Given the description of an element on the screen output the (x, y) to click on. 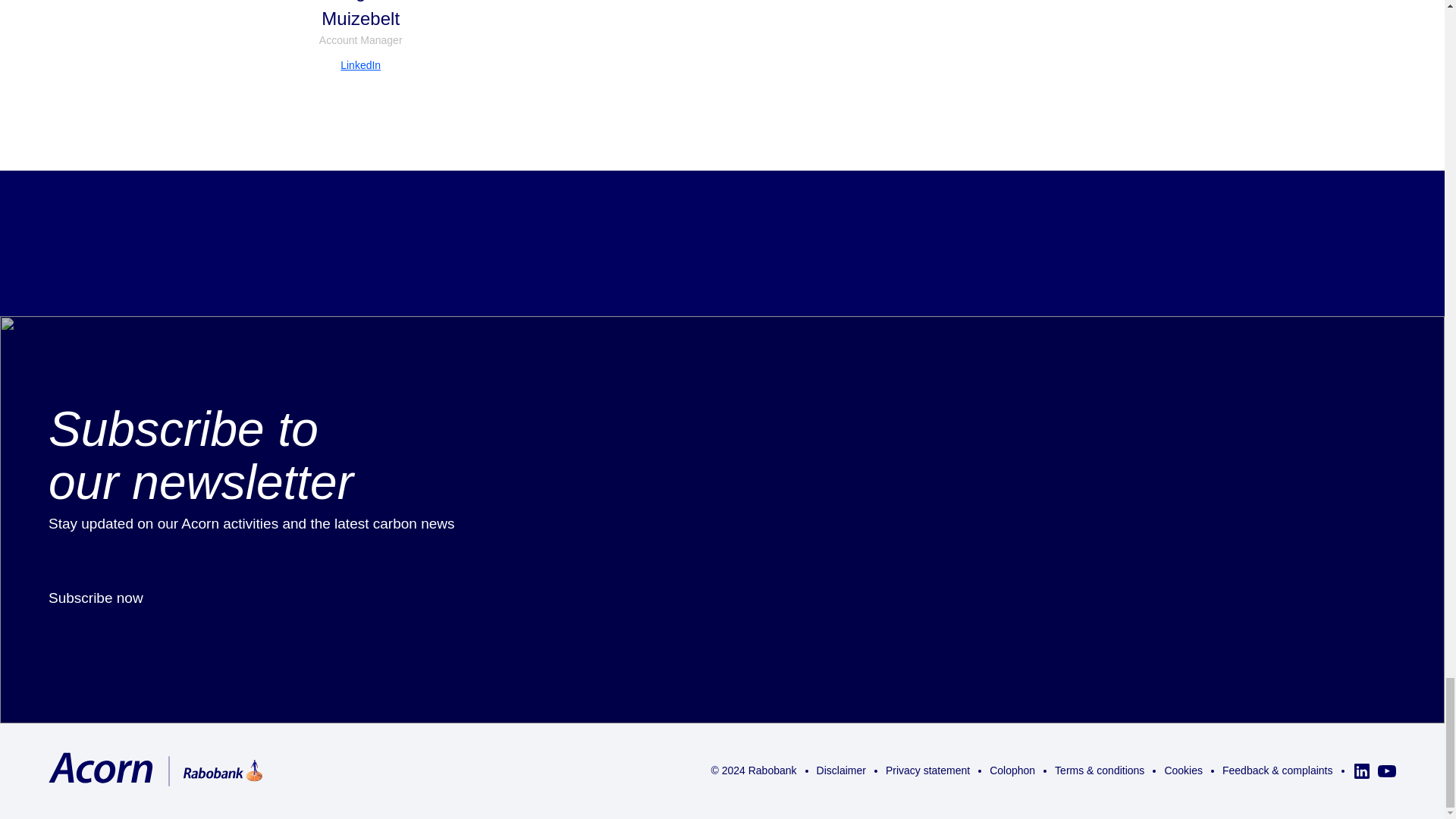
Cookies (1182, 770)
Subscribe now (151, 598)
LinkedIn (360, 65)
Privacy statement (927, 770)
Disclaimer (841, 770)
Colophon (1012, 770)
